Given the description of an element on the screen output the (x, y) to click on. 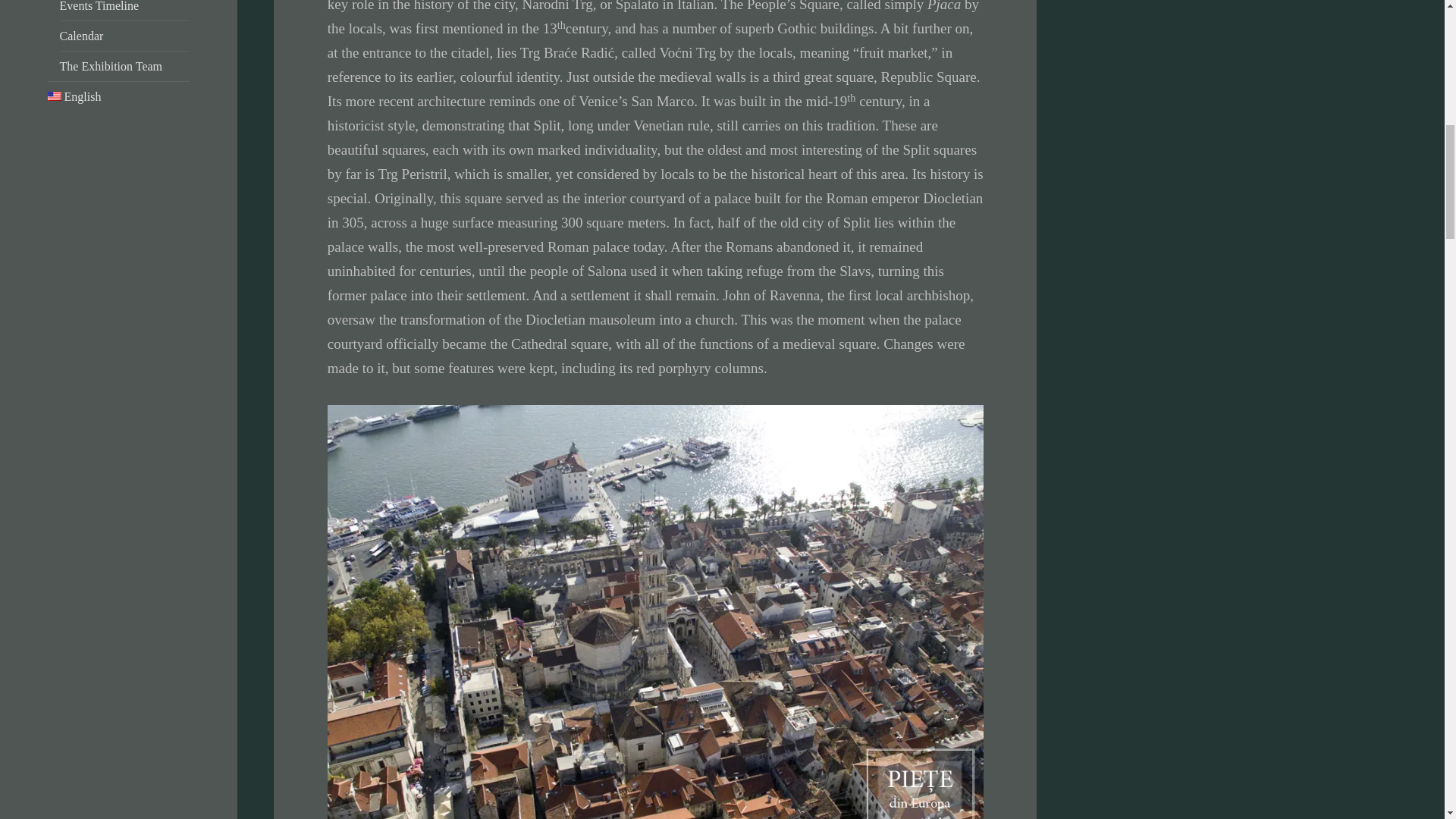
The Exhibition Team (110, 65)
English (74, 96)
Calendar (81, 35)
Events Timeline (98, 6)
